Given the description of an element on the screen output the (x, y) to click on. 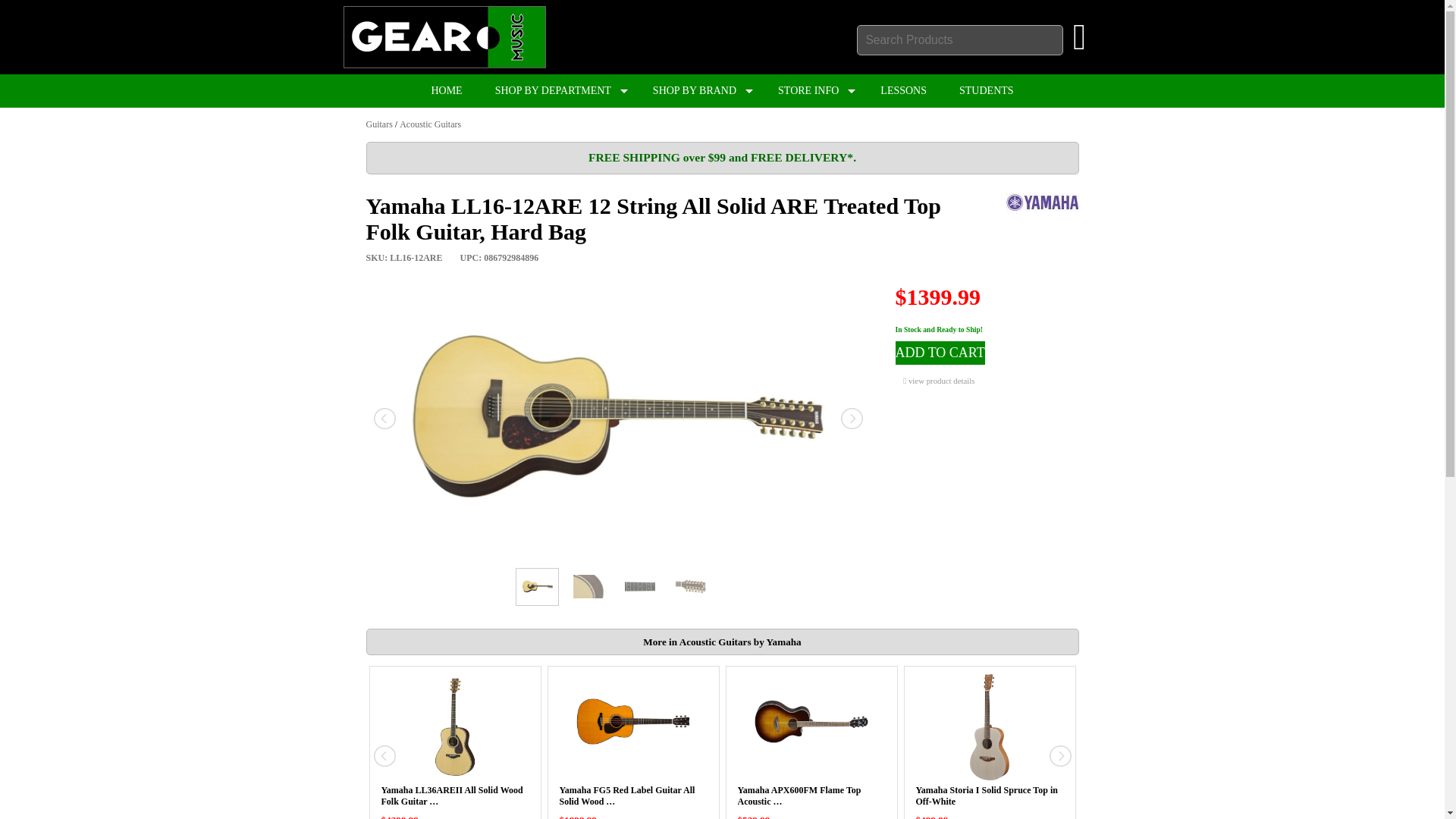
HOME (445, 90)
Home Page (443, 64)
SHOP BY DEPARTMENT (557, 90)
